Given the description of an element on the screen output the (x, y) to click on. 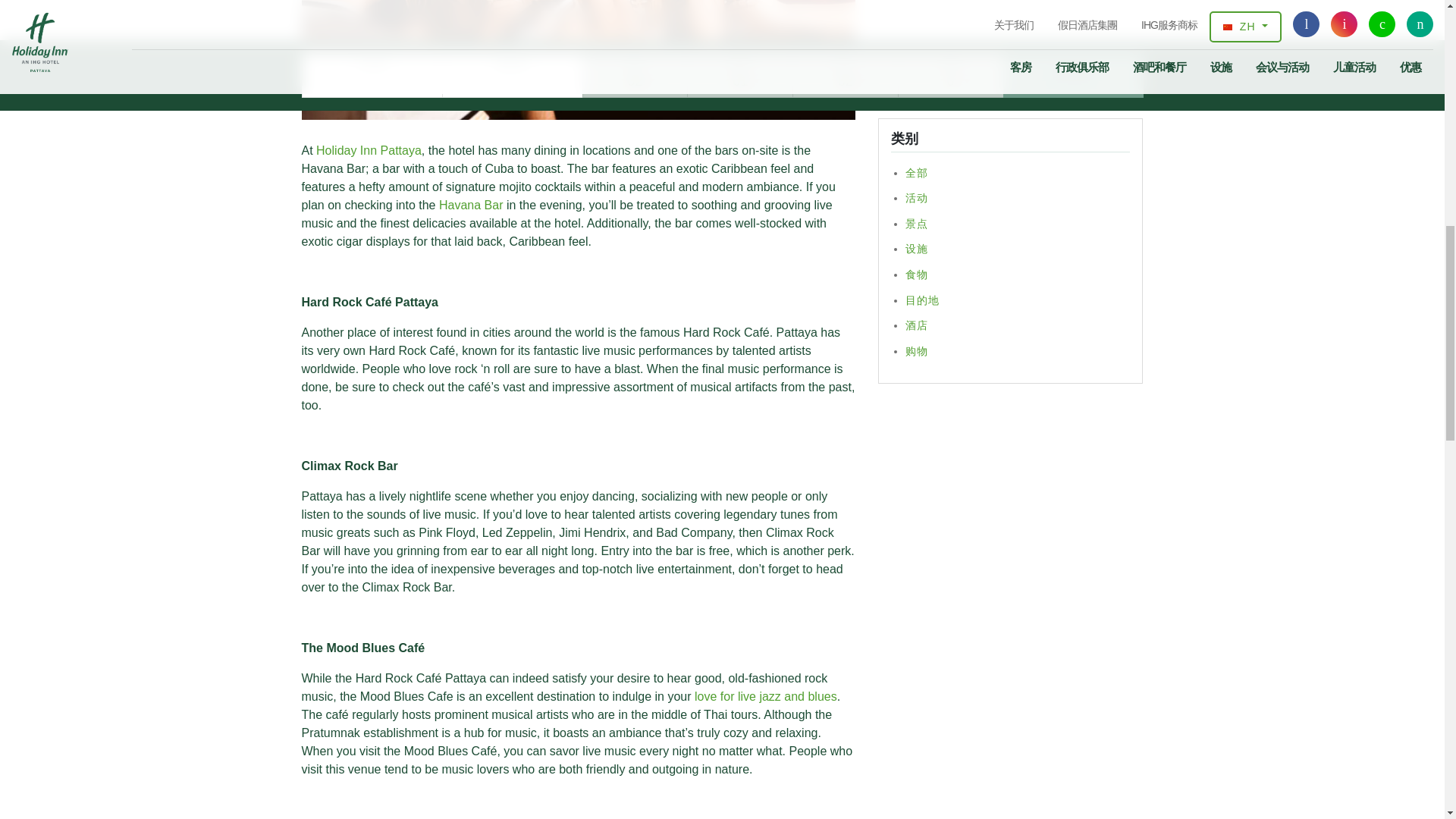
Holiday Inn Pattaya (368, 150)
Havana Bar (471, 205)
love for live jazz and blues (765, 696)
